Given the description of an element on the screen output the (x, y) to click on. 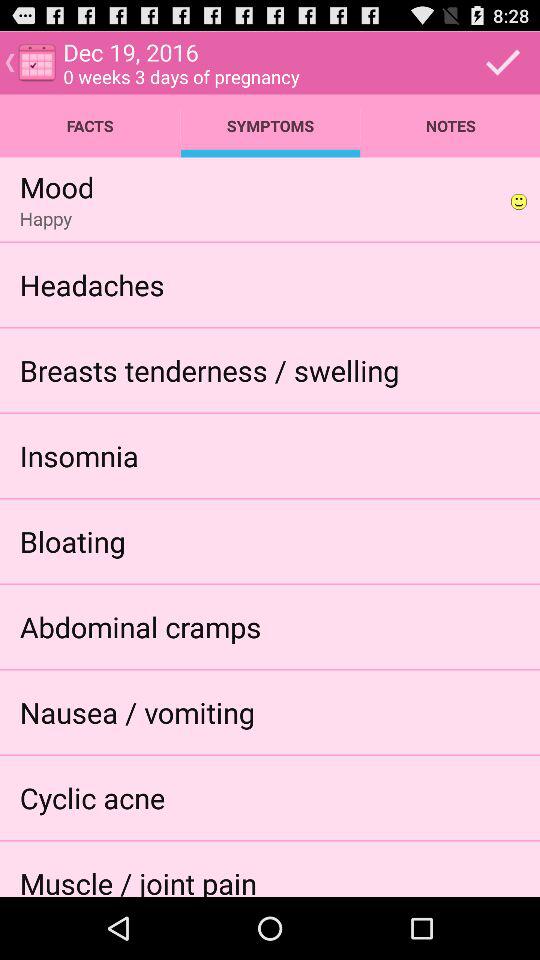
turn off the icon below the nausea / vomiting icon (92, 797)
